Given the description of an element on the screen output the (x, y) to click on. 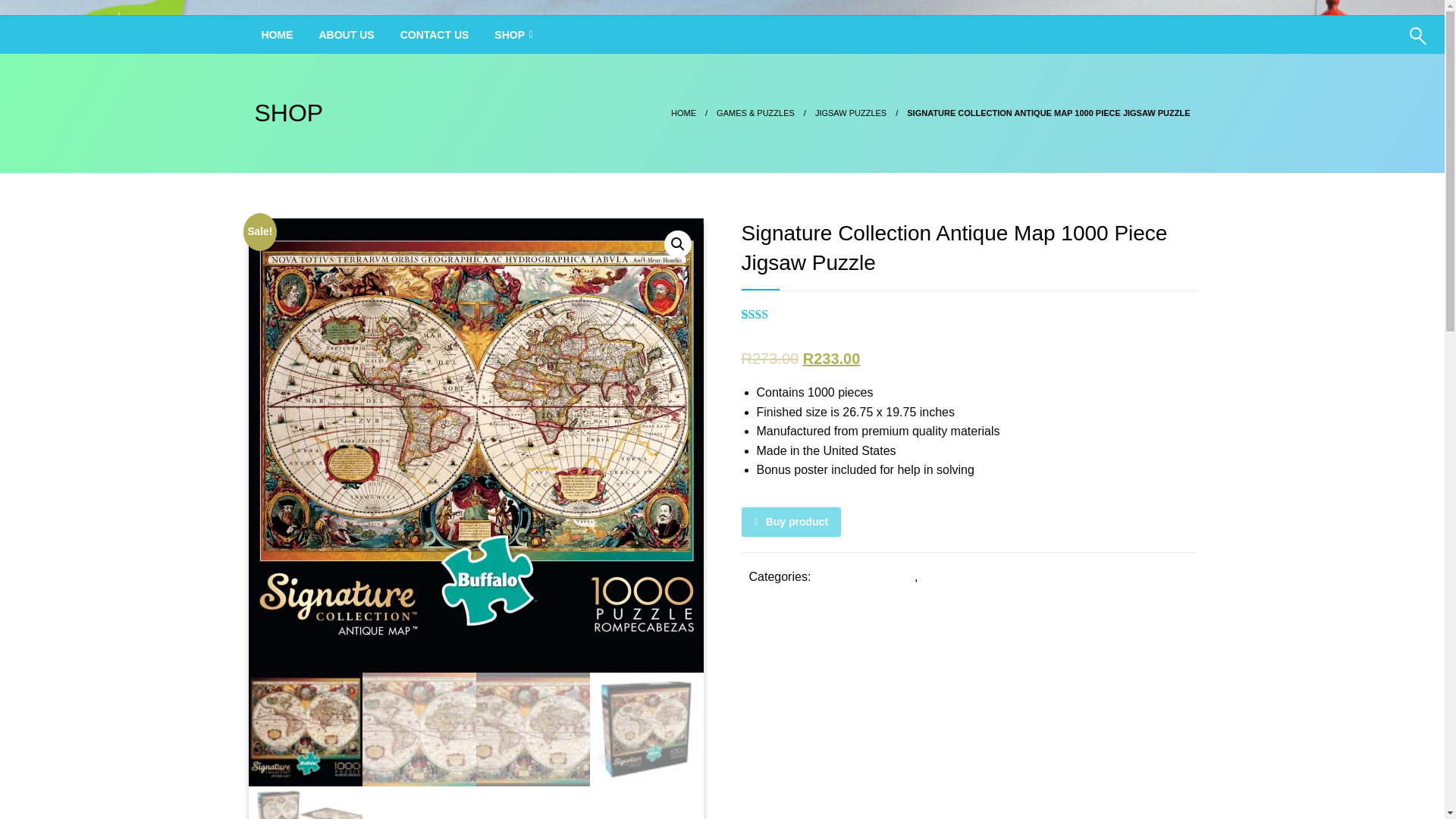
CONTACT US (434, 34)
SHOP (512, 34)
HOME (276, 34)
JIGSAW PUZZLES (850, 112)
Lighthouse Eco (353, 34)
Buy product (791, 521)
HOME (683, 112)
Jigsaw Puzzles (964, 576)
ABOUT US (346, 34)
Search (1381, 45)
